Given the description of an element on the screen output the (x, y) to click on. 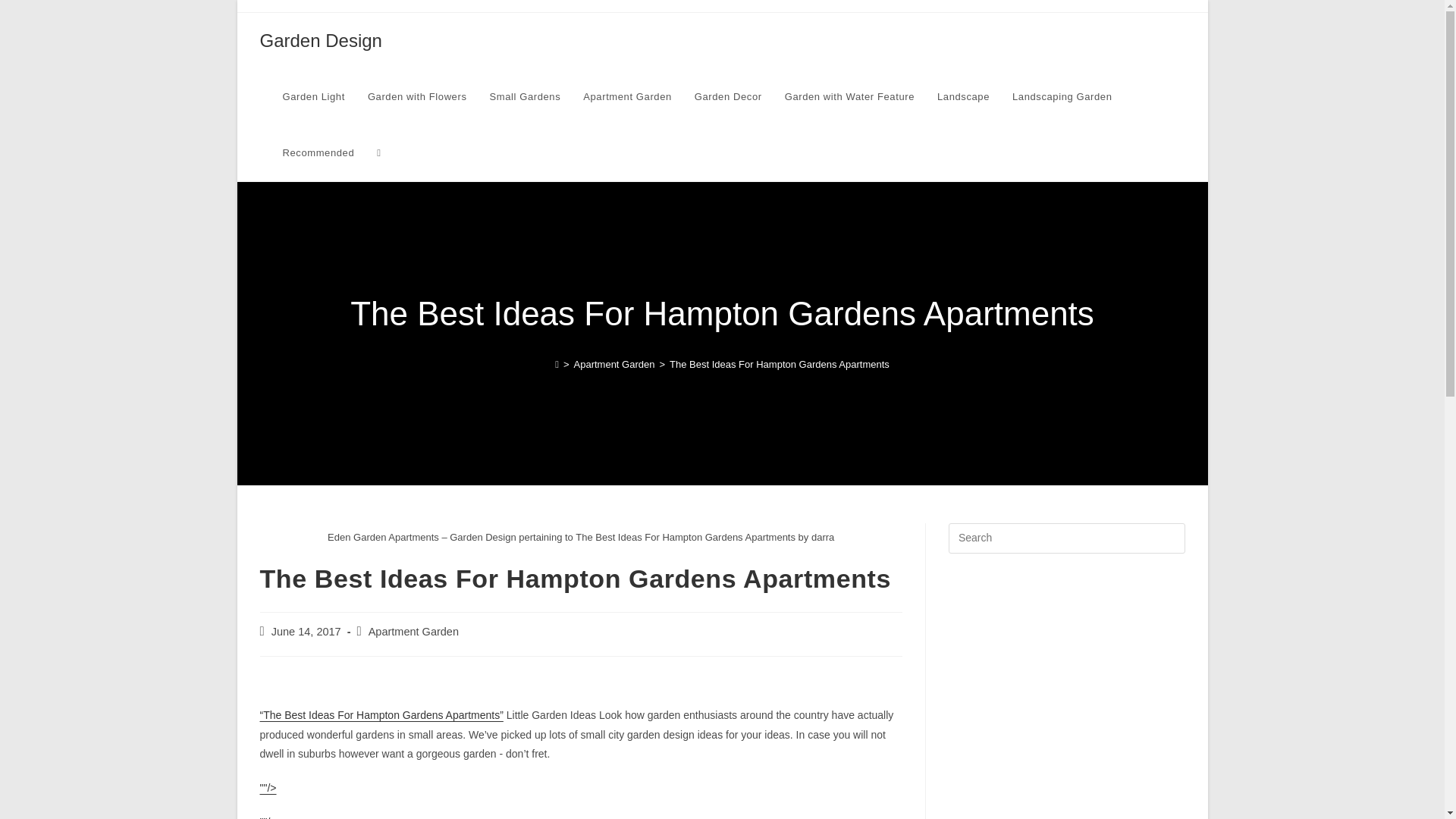
Apartment Garden (627, 96)
Landscape (963, 96)
Garden with Water Feature (849, 96)
Small Gardens (524, 96)
Landscaping Garden (1062, 96)
Apartment Garden (613, 364)
Garden Design (320, 40)
Garden Decor (727, 96)
Garden Light (313, 96)
Recommended (318, 152)
